Given the description of an element on the screen output the (x, y) to click on. 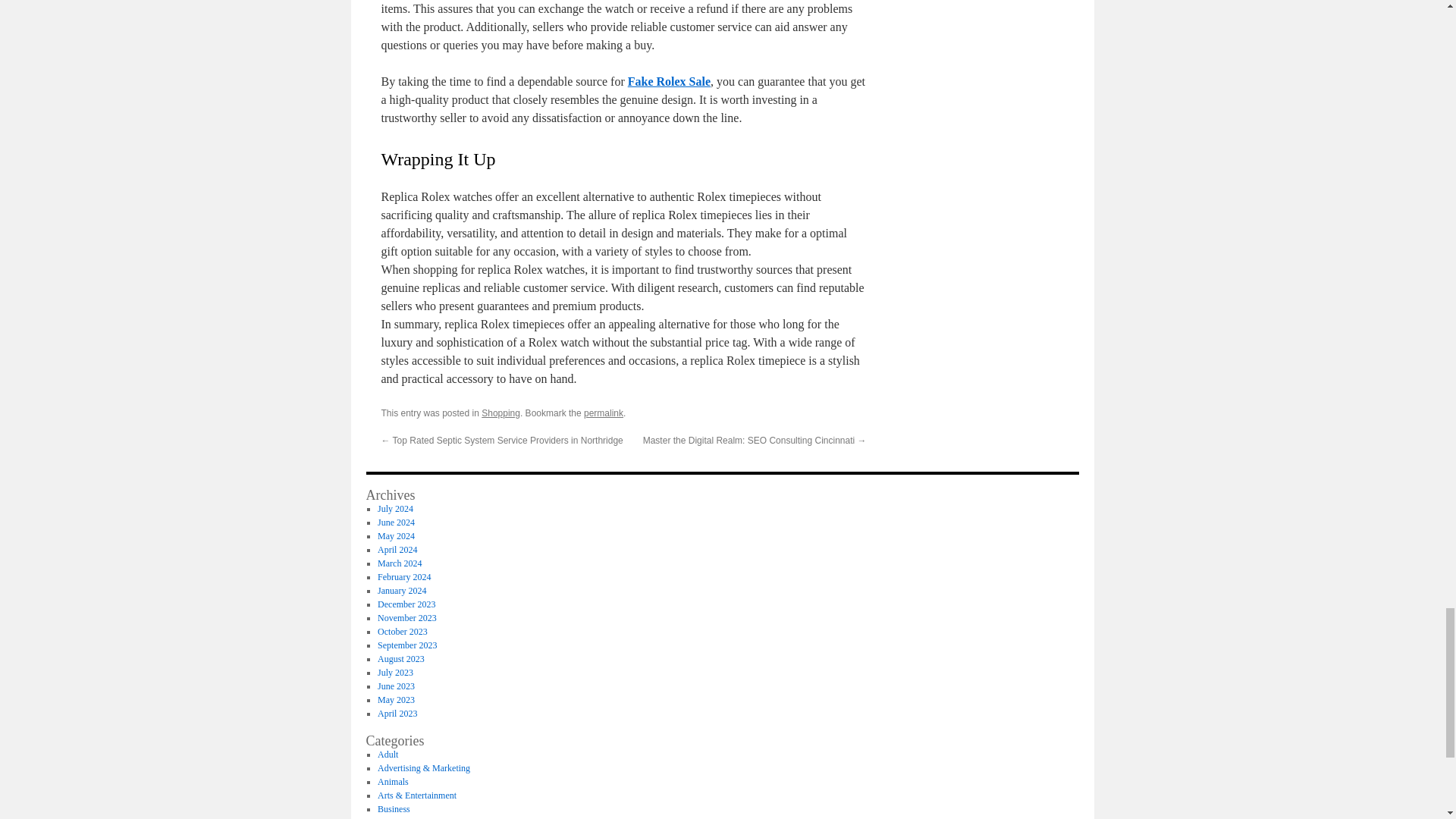
December 2023 (406, 603)
Permalink to Embrace Luxury: Fake Rolex Timepieces (603, 412)
February 2024 (403, 576)
March 2024 (399, 562)
June 2024 (395, 521)
September 2023 (406, 644)
May 2024 (395, 535)
permalink (603, 412)
April 2023 (396, 713)
October 2023 (402, 631)
Adult (387, 754)
Fake Rolex Sale (668, 81)
July 2023 (395, 672)
July 2024 (395, 508)
June 2023 (395, 685)
